Given the description of an element on the screen output the (x, y) to click on. 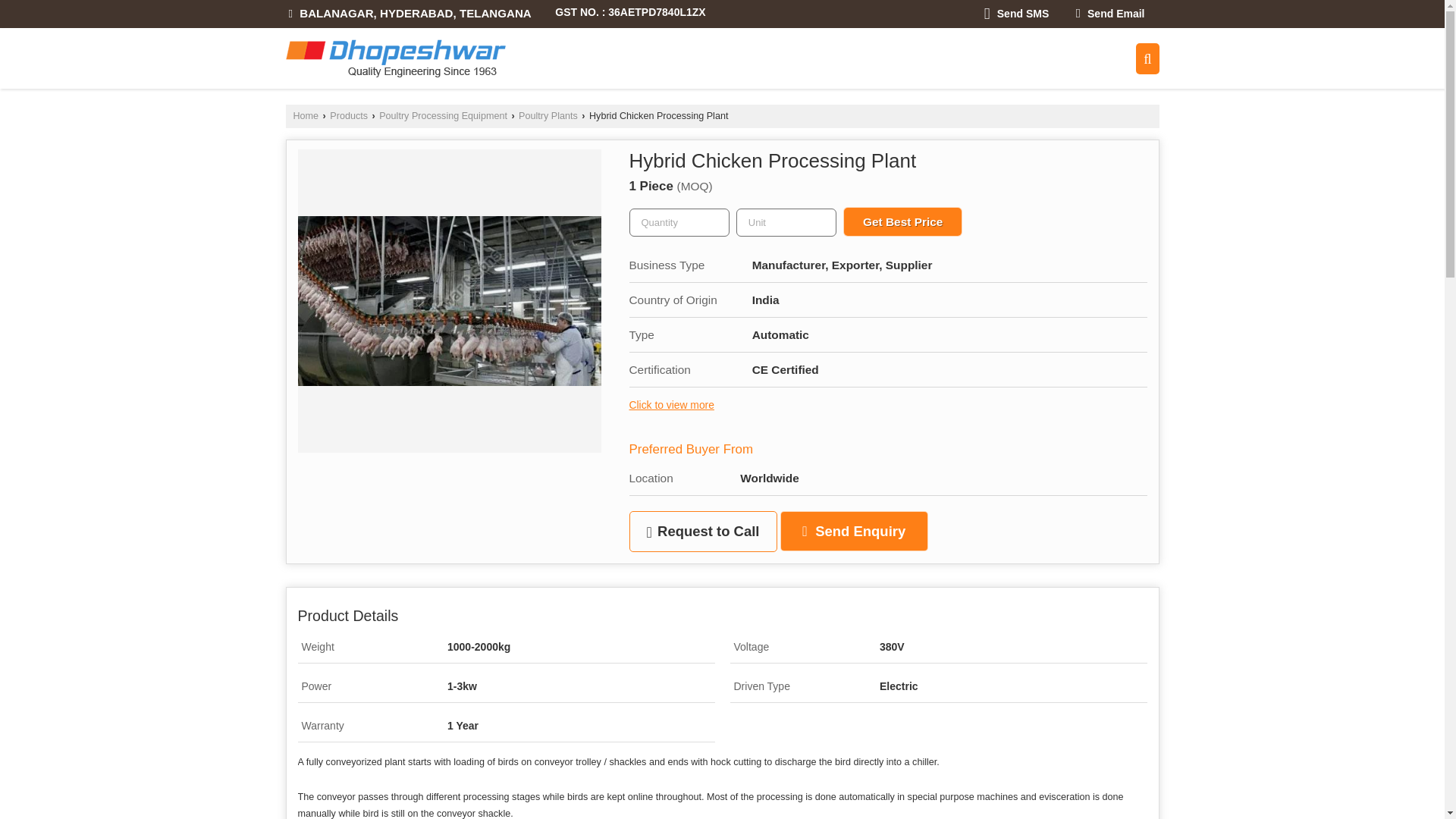
Send SMS (1015, 14)
Send Email (1110, 14)
